Given the description of an element on the screen output the (x, y) to click on. 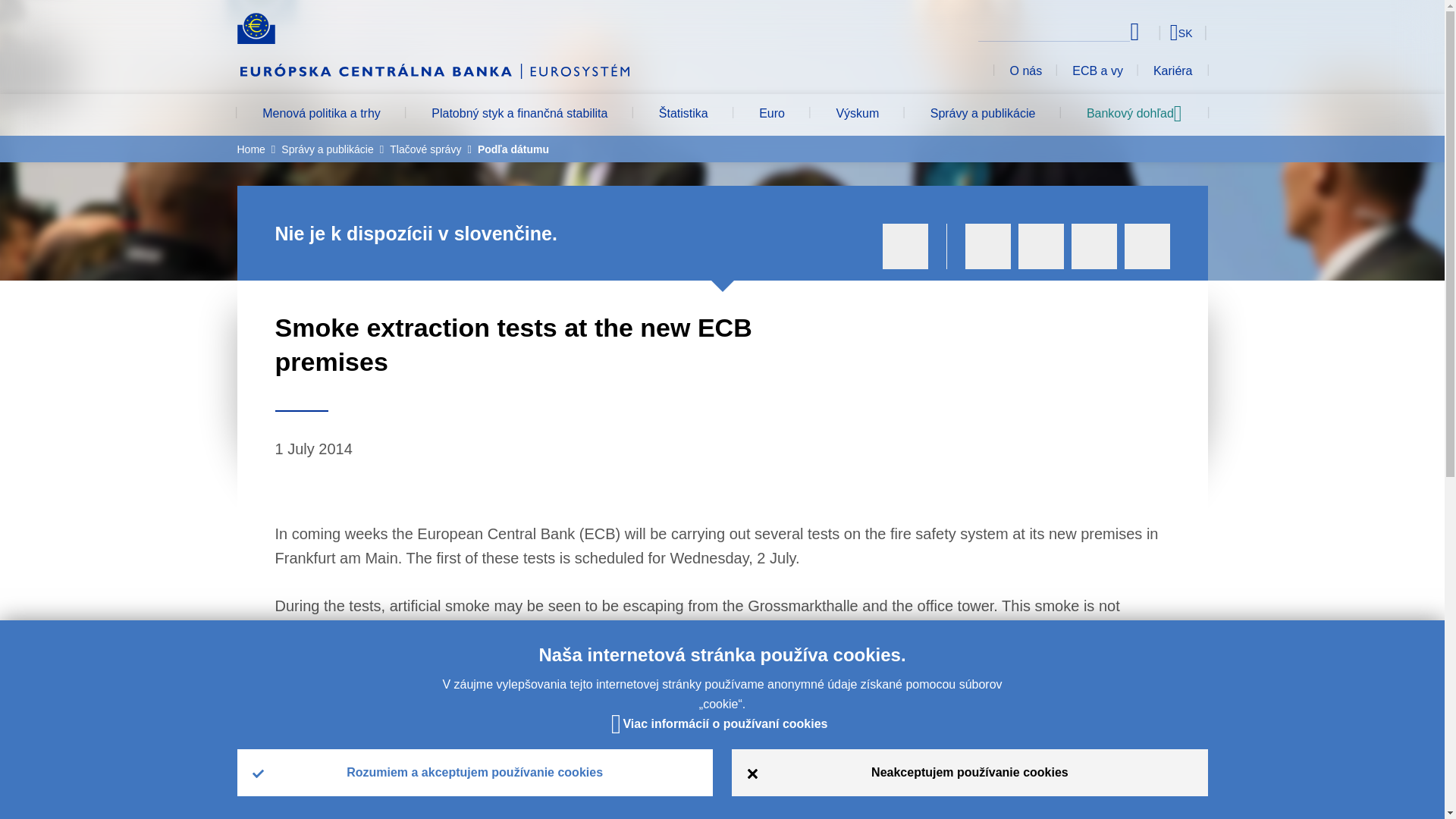
Select language (1153, 32)
